Given the description of an element on the screen output the (x, y) to click on. 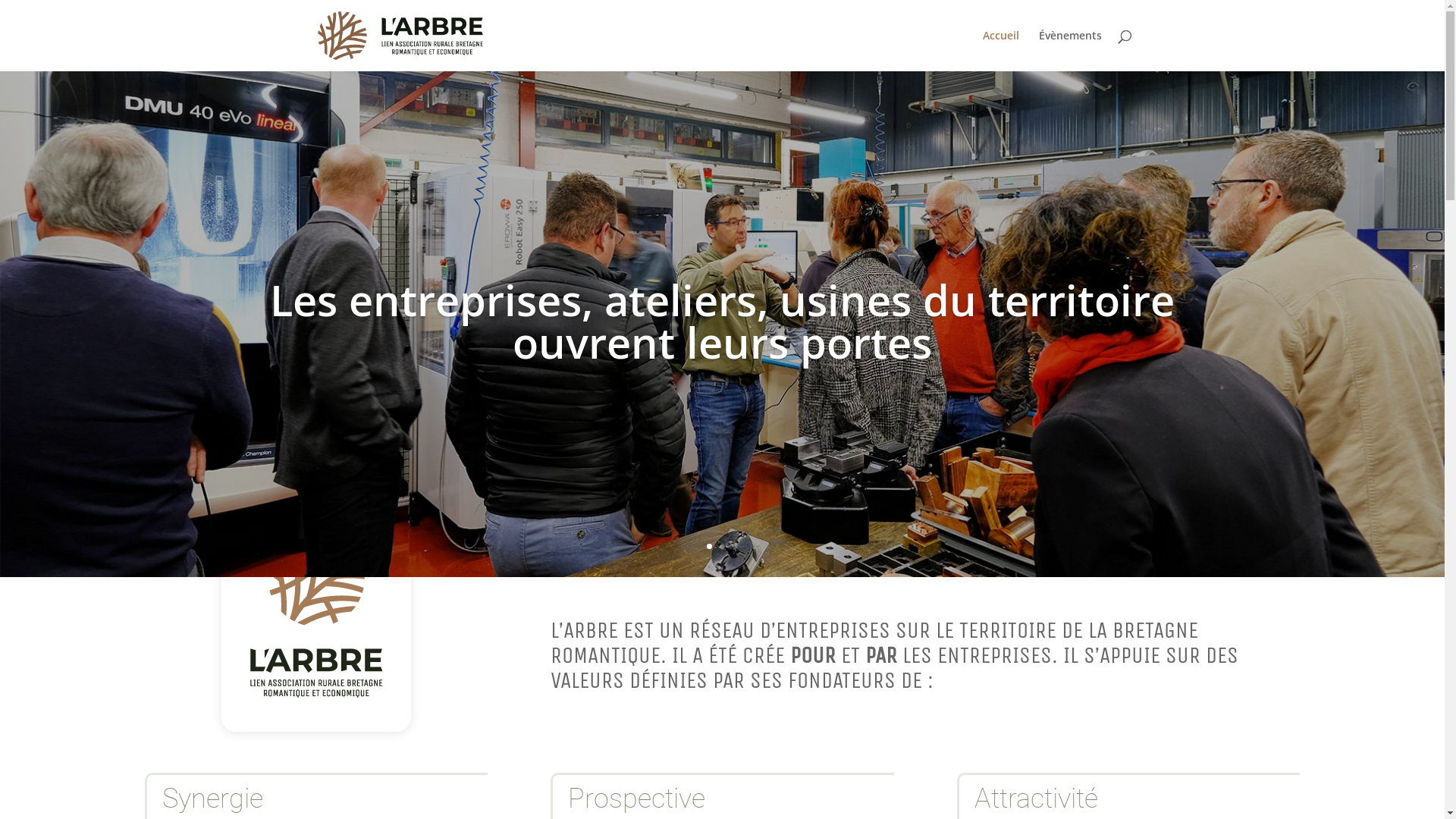
3 Element type: text (734, 546)
Accueil Element type: text (1000, 50)
2 Element type: text (721, 546)
logo-larbre-reseau-entreprises-bretagne-romantique-blanc Element type: hover (316, 613)
1 Element type: text (709, 546)
